Given the description of an element on the screen output the (x, y) to click on. 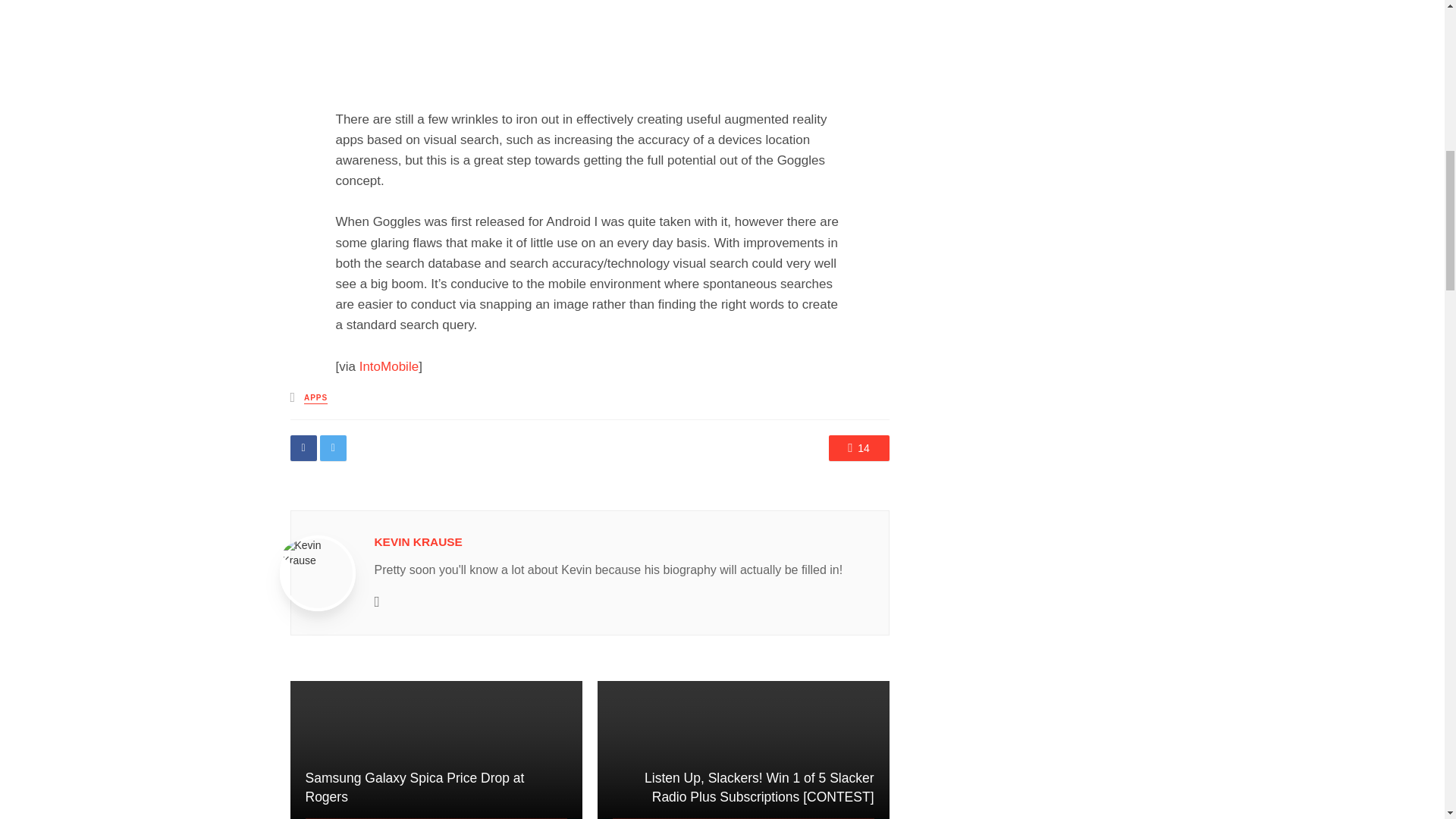
IntoMobile (389, 366)
Posts by Kevin Krause (418, 541)
Share on Twitter (333, 447)
14 (858, 447)
Share on Facebook (302, 447)
KEVIN KRAUSE (418, 541)
14 Comments (858, 447)
APPS (315, 398)
